Given the description of an element on the screen output the (x, y) to click on. 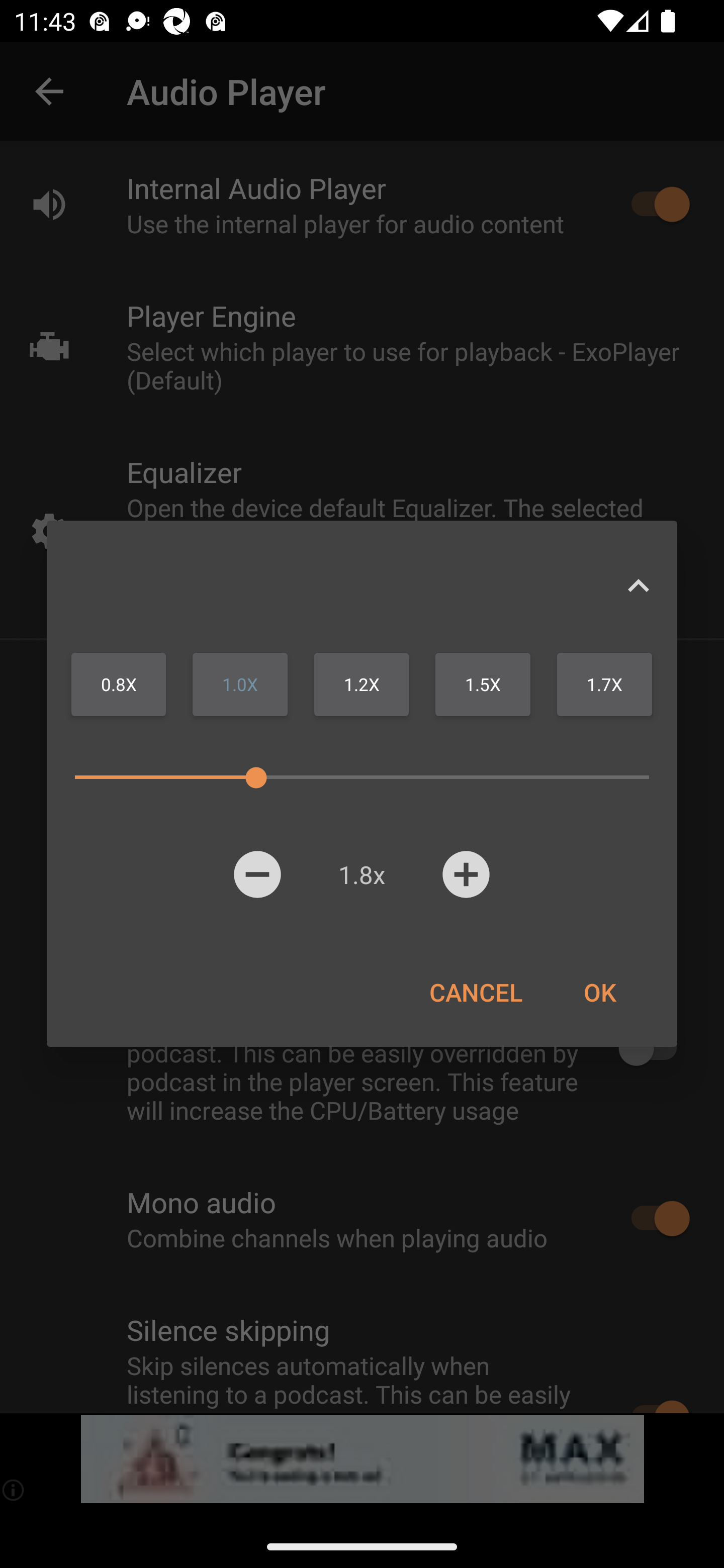
Expand (637, 585)
0.8X (118, 683)
1.0X (239, 683)
1.2X (360, 683)
1.5X (482, 683)
1.7X (604, 683)
1.8x (361, 873)
CANCEL (475, 992)
OK (599, 992)
